Given the description of an element on the screen output the (x, y) to click on. 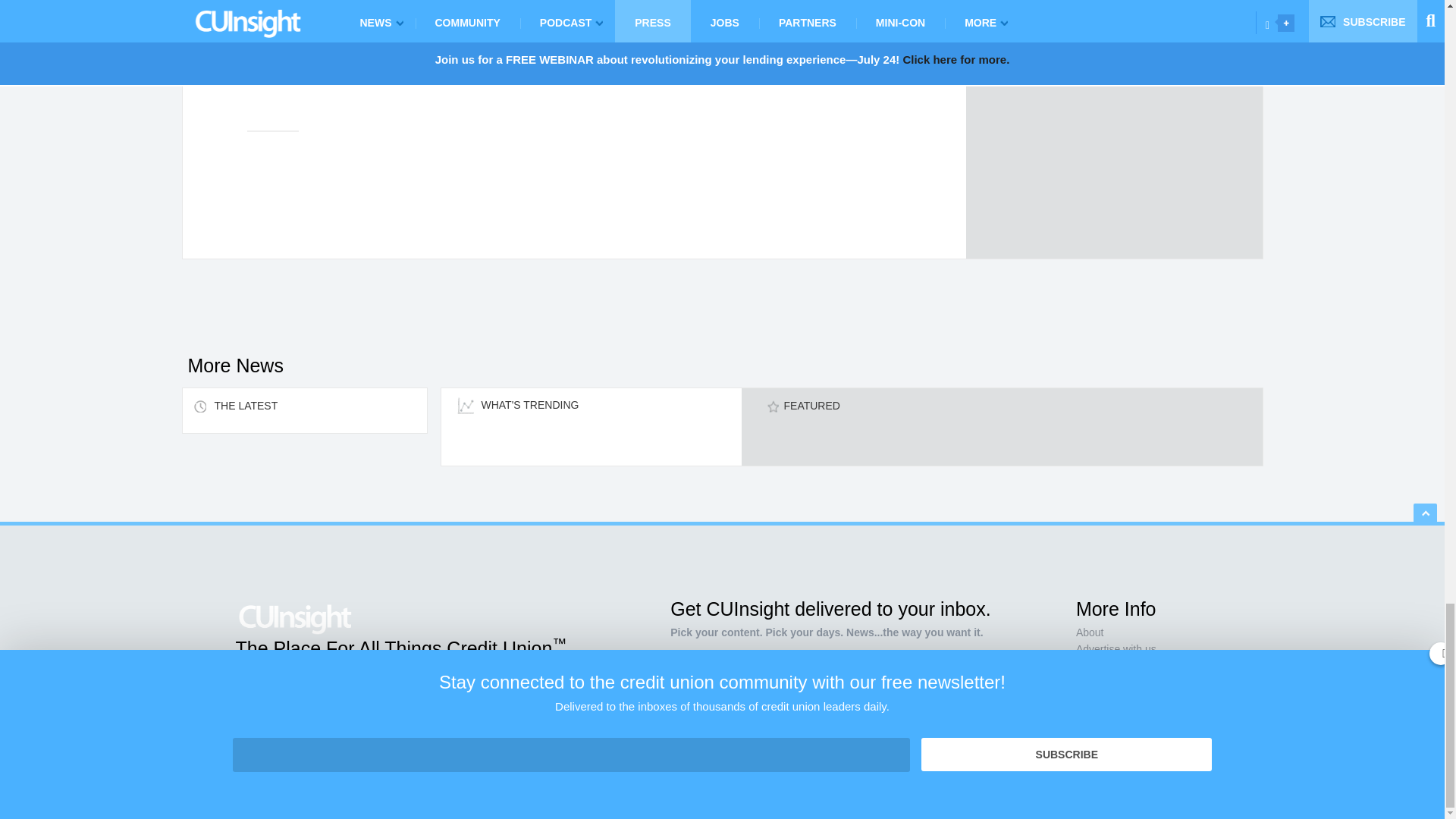
Subscribe (909, 716)
